Given the description of an element on the screen output the (x, y) to click on. 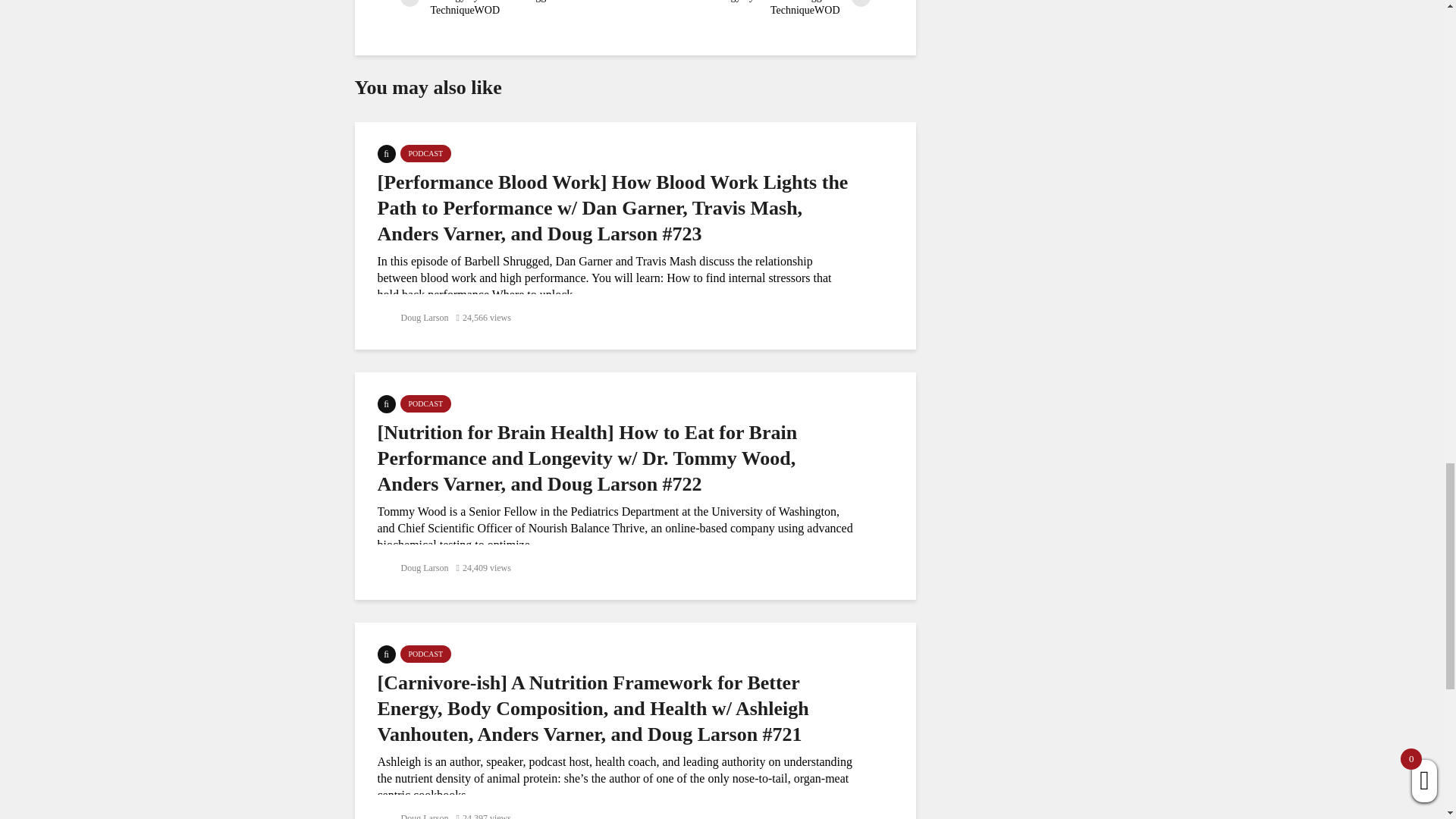
PODCAST (425, 153)
Doug Larson (412, 567)
Doug Larson (412, 816)
Doug Larson (412, 317)
PODCAST (425, 653)
PODCAST (425, 403)
